Given the description of an element on the screen output the (x, y) to click on. 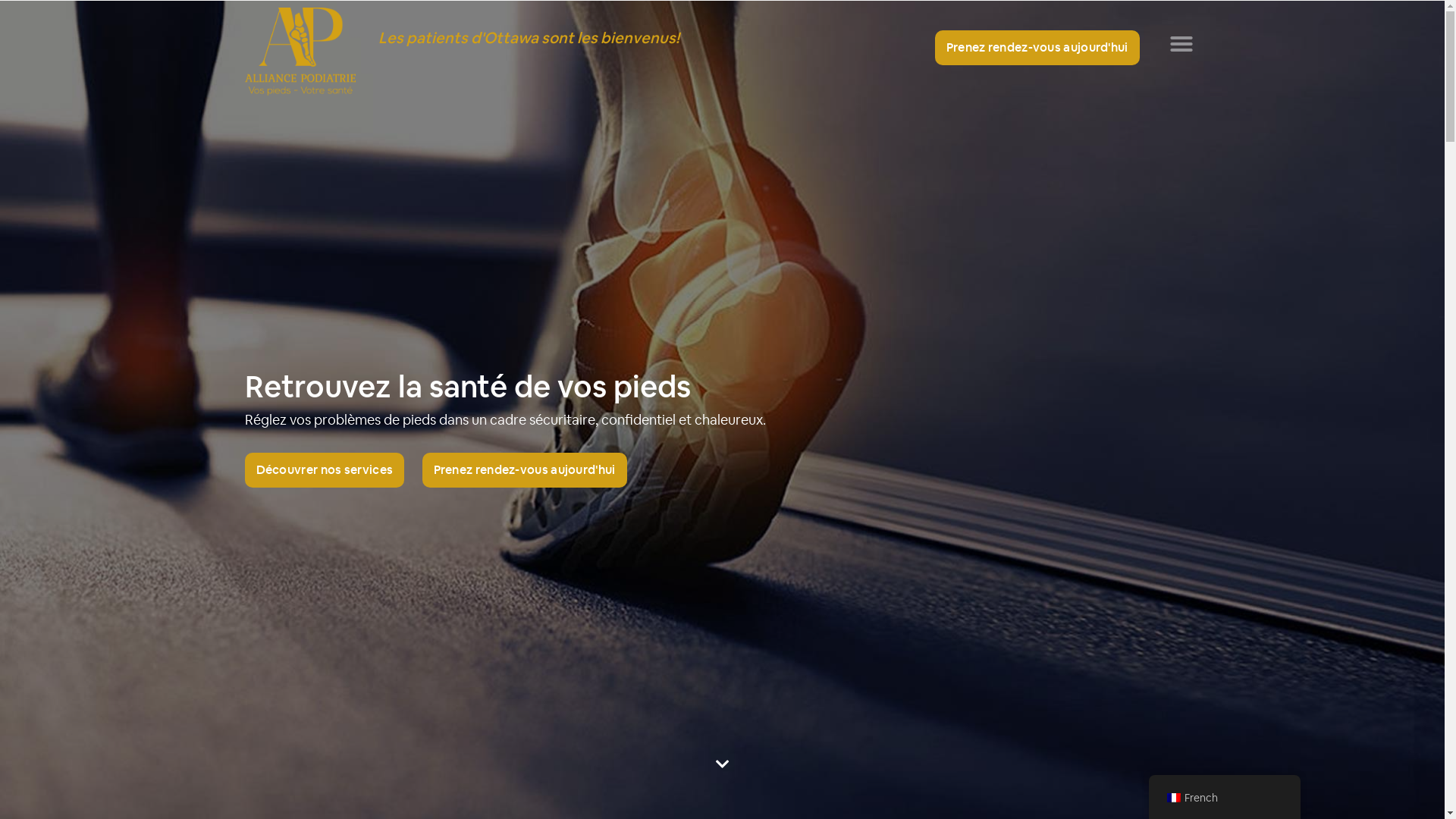
Prenez rendez-vous aujourd'hui Element type: text (1037, 47)
French Element type: hover (1172, 797)
French Element type: text (1223, 797)
Prenez rendez-vous aujourd'hui Element type: text (523, 468)
